Given the description of an element on the screen output the (x, y) to click on. 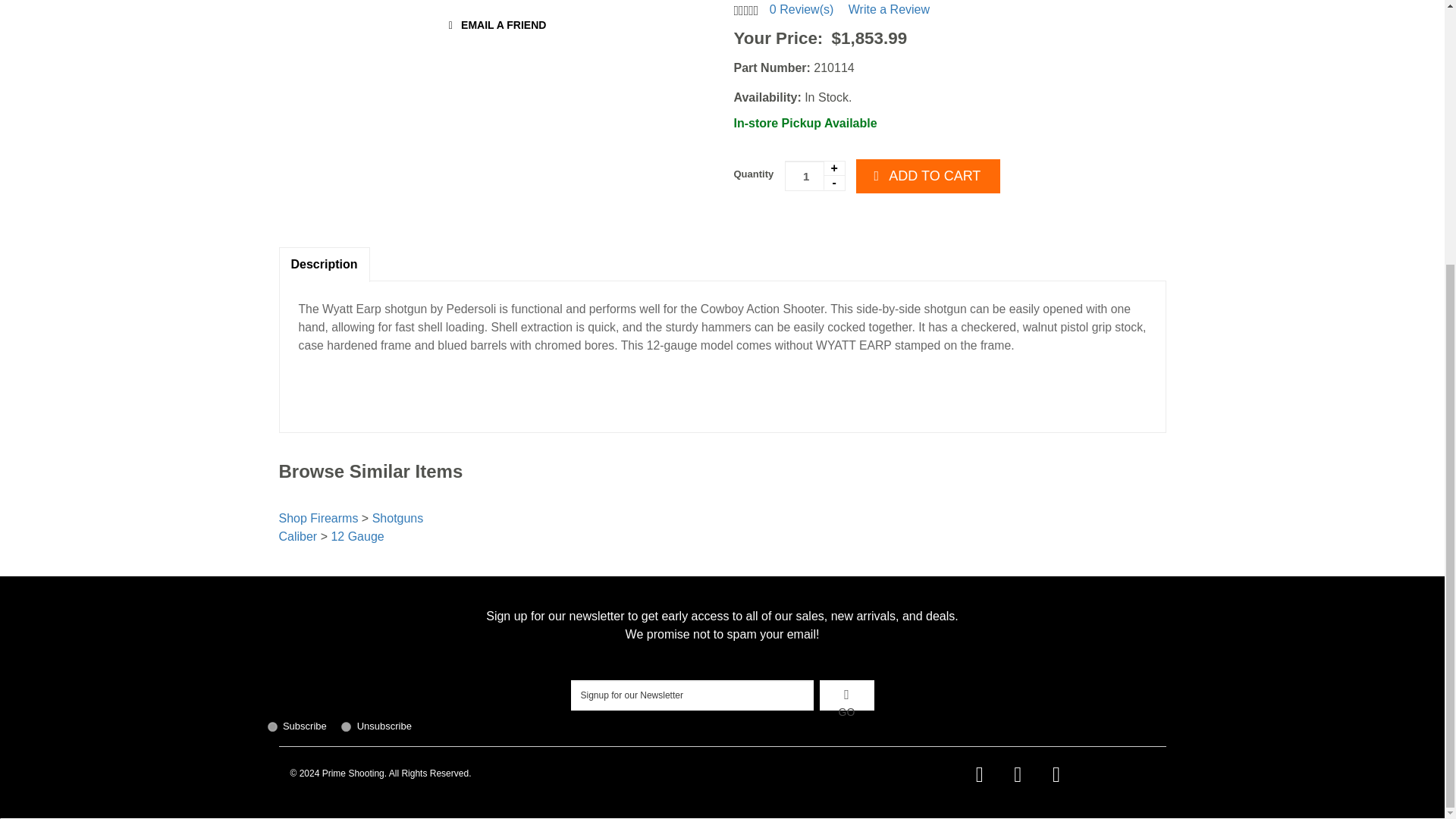
1 (814, 175)
EMAIL A FRIEND (495, 25)
1 (271, 726)
0 (345, 726)
Like Us on Facebook (978, 774)
Follow Us on Tumblr (1055, 774)
Follow Us on Instagram (1017, 774)
